Given the description of an element on the screen output the (x, y) to click on. 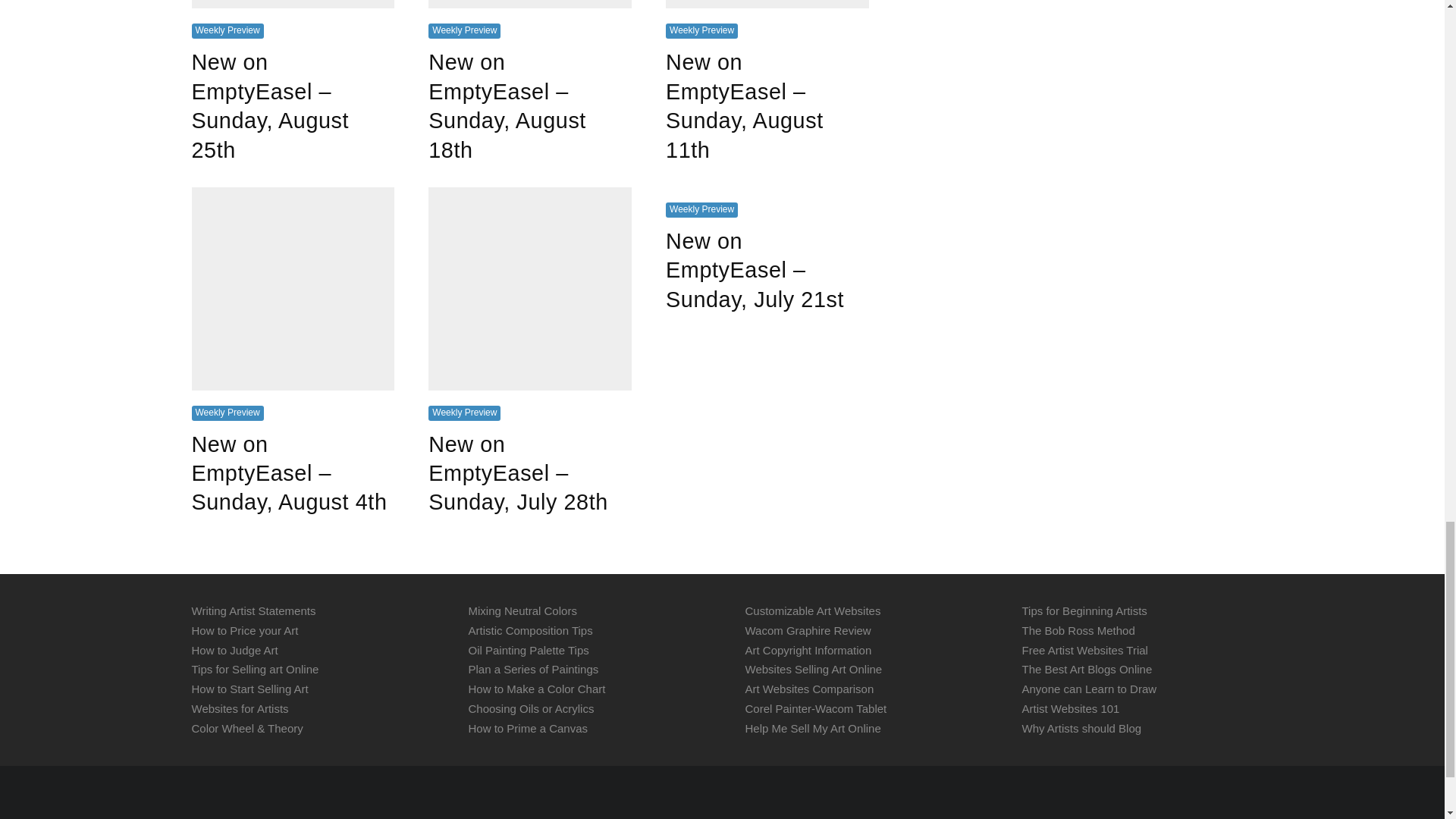
Article on how to mix neutral colors like brown and black (522, 610)
Artist websites that actually help you sell art online (239, 707)
How to write a good artists statement and resume (252, 610)
How to start selling your art (248, 688)
A review of the Wacom Graphire Pen and Tablet (807, 630)
